Given the description of an element on the screen output the (x, y) to click on. 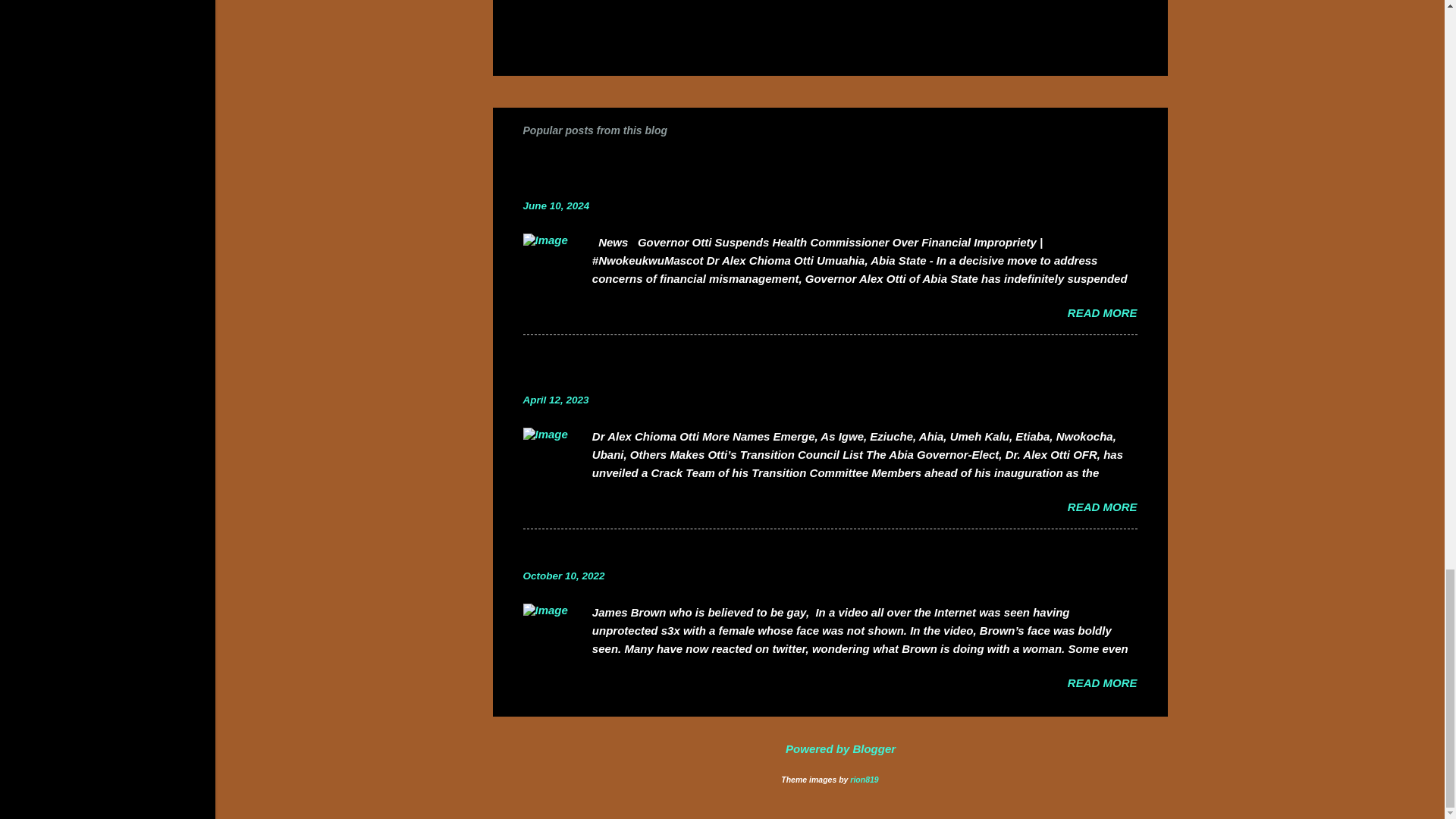
READ MORE (1102, 682)
April 12, 2023 (555, 399)
rion819 (863, 778)
October 10, 2022 (563, 575)
READ MORE (1102, 312)
READ MORE (1102, 506)
Powered by Blogger (829, 748)
June 10, 2024 (555, 205)
